Given the description of an element on the screen output the (x, y) to click on. 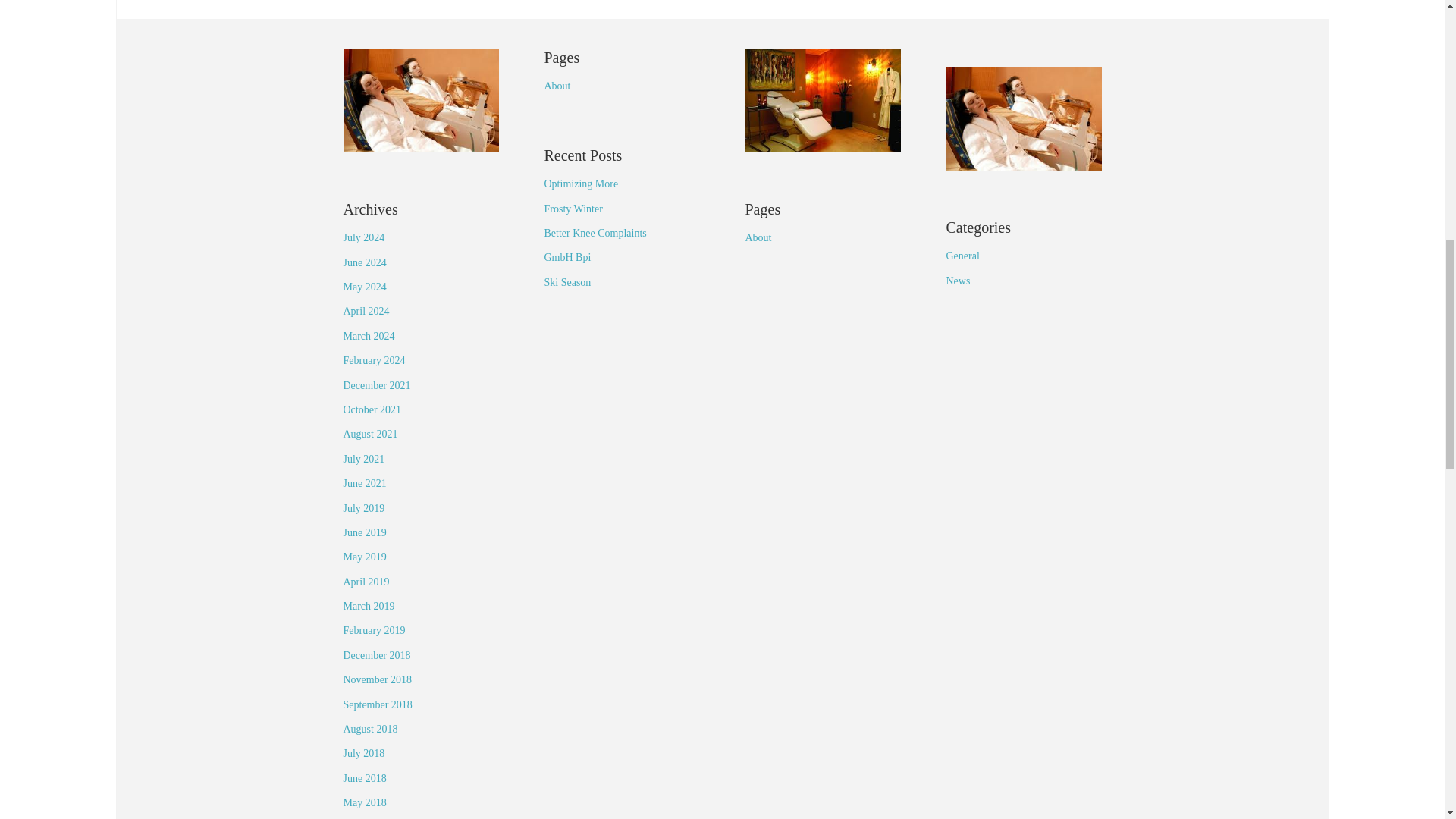
July 2018 (363, 753)
July 2024 (363, 237)
Frosty Winter (573, 208)
July 2021 (363, 459)
April 2019 (365, 582)
June 2024 (363, 262)
February 2024 (373, 360)
August 2018 (369, 728)
September 2018 (377, 704)
December 2018 (376, 655)
June 2021 (363, 482)
December 2021 (376, 385)
Better Knee Complaints (595, 233)
Optimizing More (581, 183)
About (557, 85)
